Given the description of an element on the screen output the (x, y) to click on. 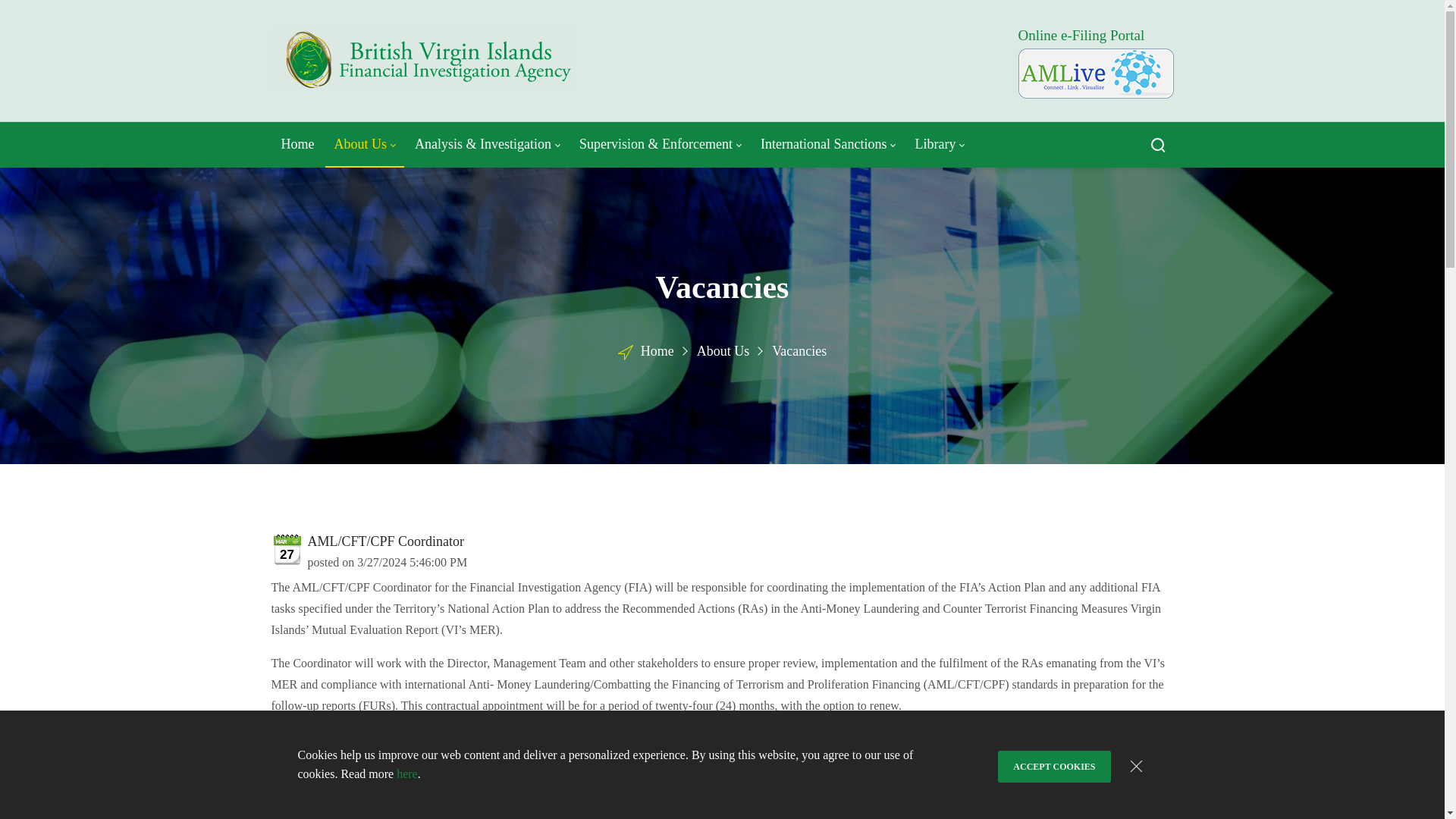
British Virgin Islands Financial Investigation Agency (422, 60)
About Us (365, 144)
Search (1157, 144)
Home (297, 144)
International Sanctions (827, 144)
